Given the description of an element on the screen output the (x, y) to click on. 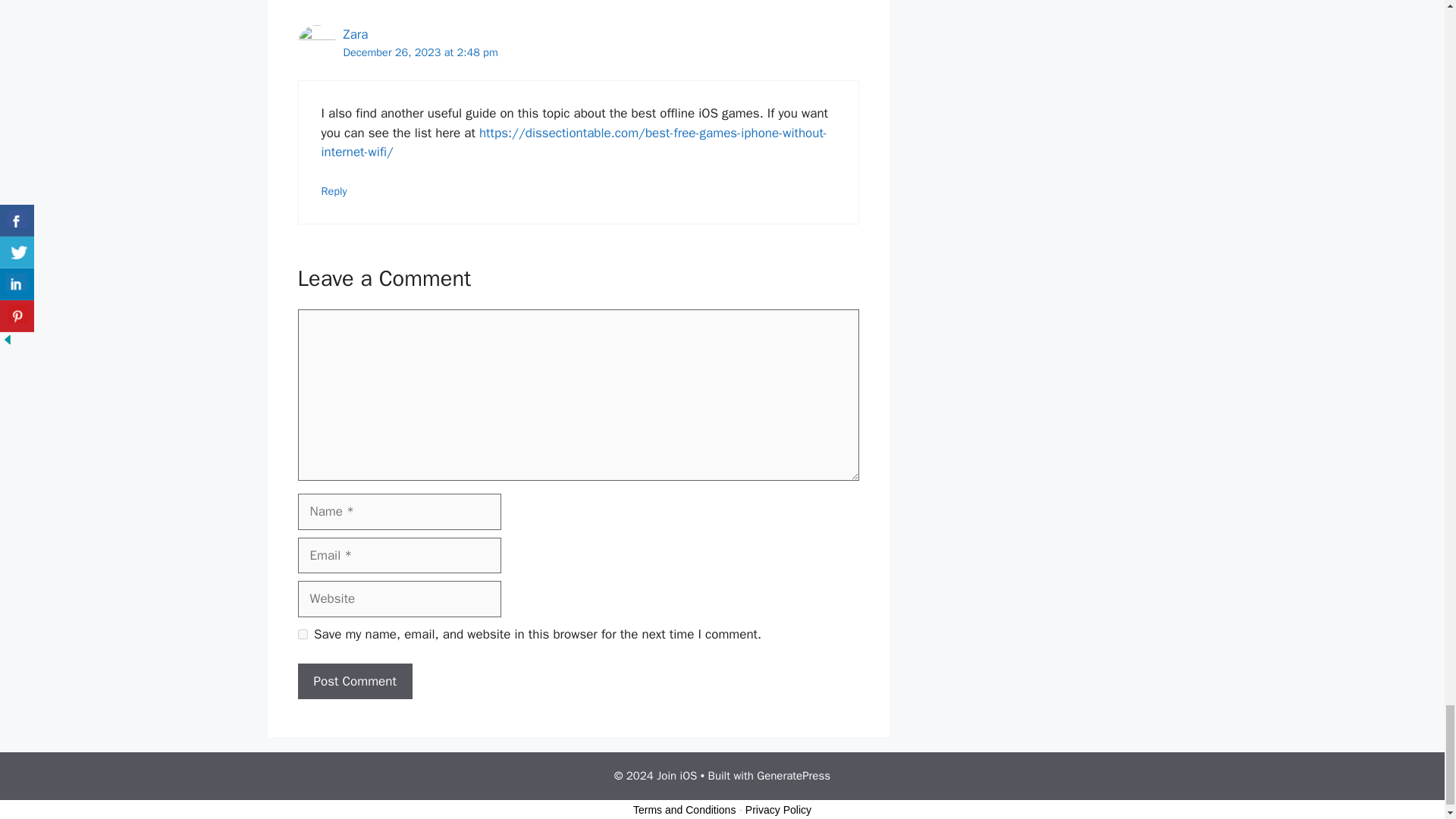
yes (302, 634)
Post Comment (354, 681)
